Given the description of an element on the screen output the (x, y) to click on. 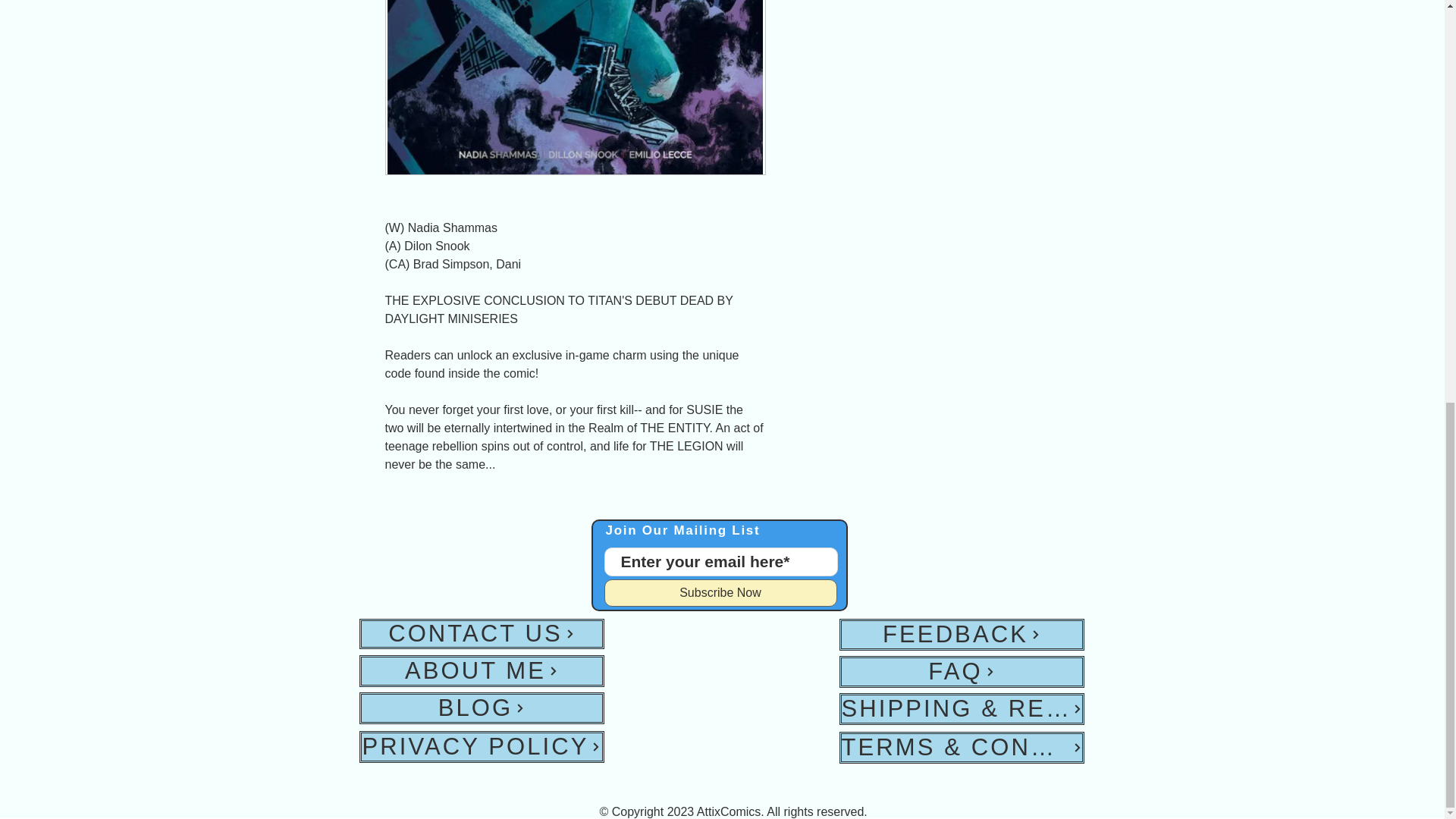
FAQ (960, 671)
Subscribe Now (719, 592)
FEEDBACK (960, 634)
PRIVACY POLICY (481, 746)
ABOUT ME (481, 671)
BLOG (481, 707)
CONTACT US (481, 634)
